Given the description of an element on the screen output the (x, y) to click on. 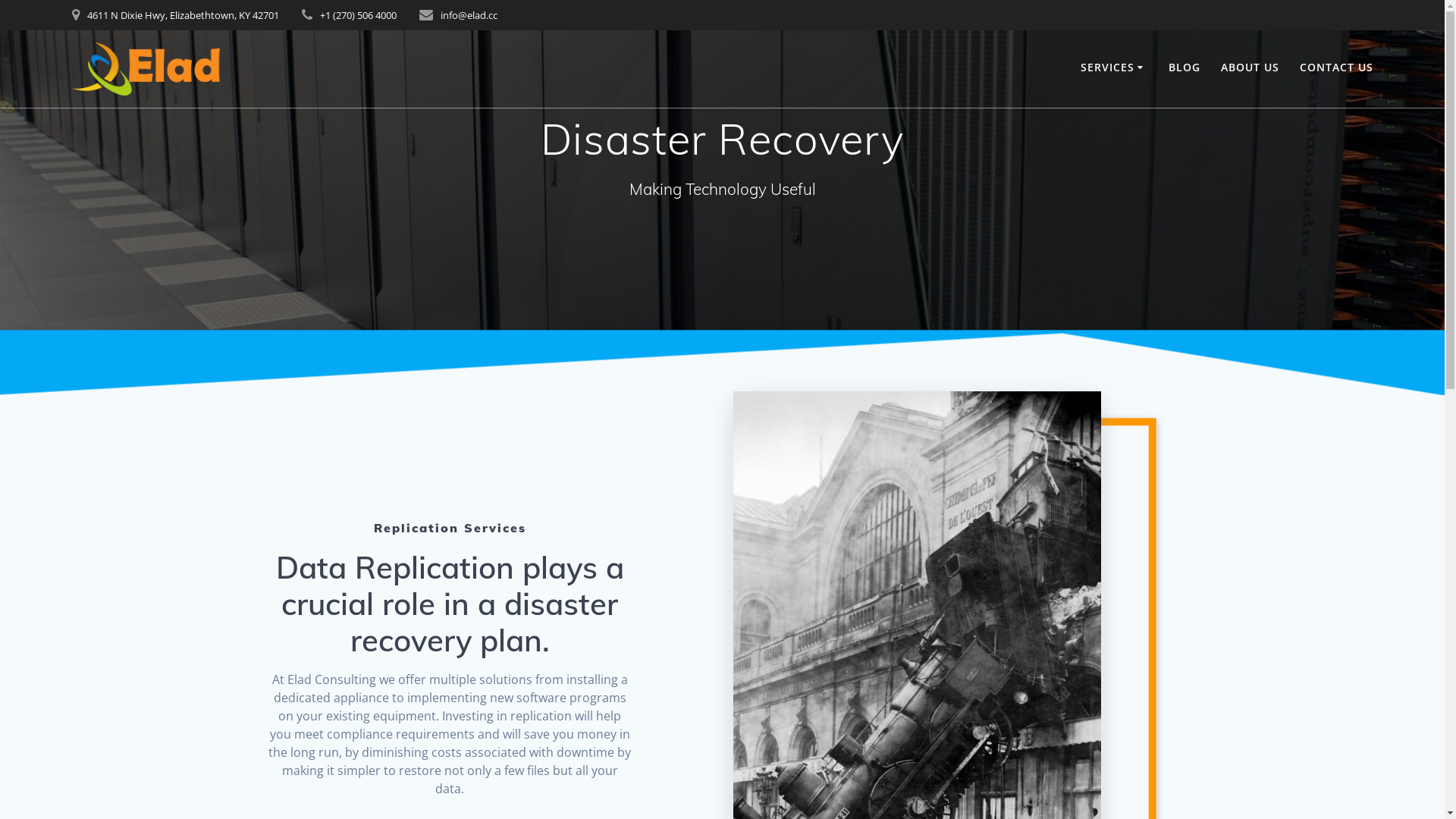
ABOUT US Element type: text (1249, 68)
BLOG Element type: text (1184, 68)
CONTACT US Element type: text (1336, 68)
SERVICES Element type: text (1114, 68)
Skip to content Element type: text (0, 0)
